Given the description of an element on the screen output the (x, y) to click on. 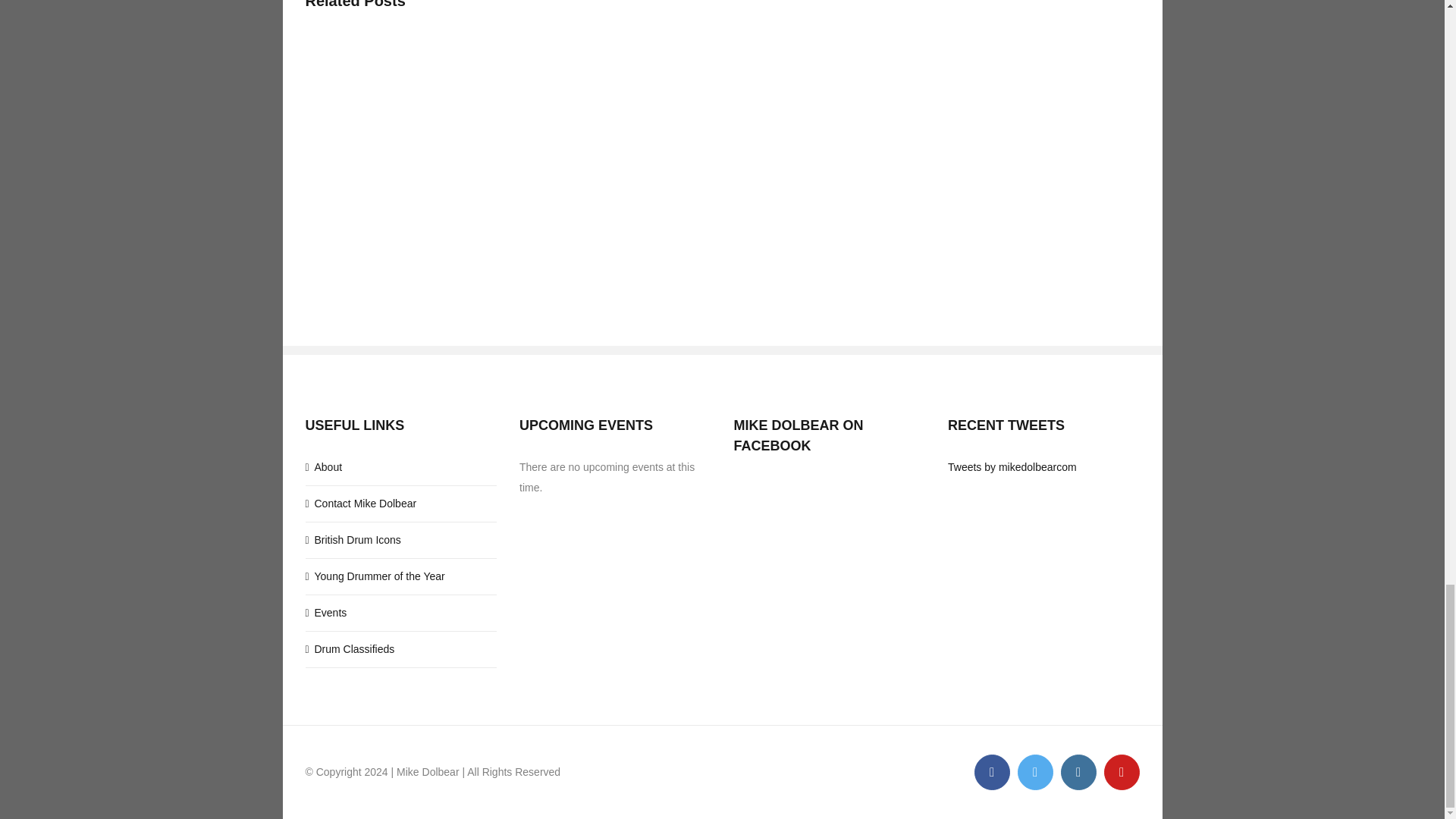
Twitter (1034, 772)
YouTube (1121, 772)
Facebook (991, 772)
Instagram (1077, 772)
